Given the description of an element on the screen output the (x, y) to click on. 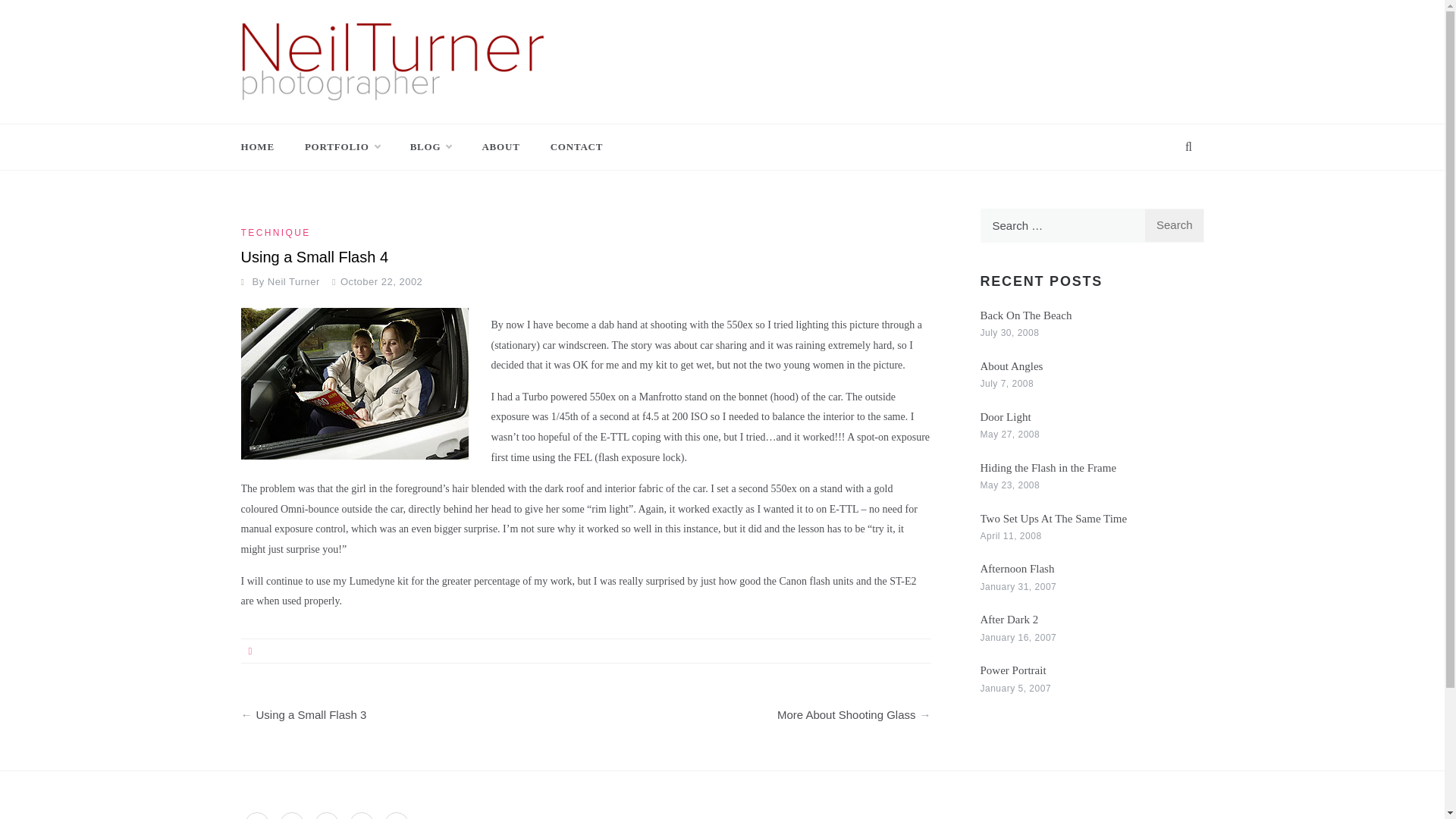
TECHNIQUE (277, 232)
BLOG (430, 146)
Search (1174, 225)
Hiding the Flash in the Frame (1047, 467)
ABOUT (499, 146)
After Dark 2 (1008, 619)
Back On The Beach (1025, 315)
Neil Turner (293, 281)
Search (1174, 225)
Search (1174, 225)
